Given the description of an element on the screen output the (x, y) to click on. 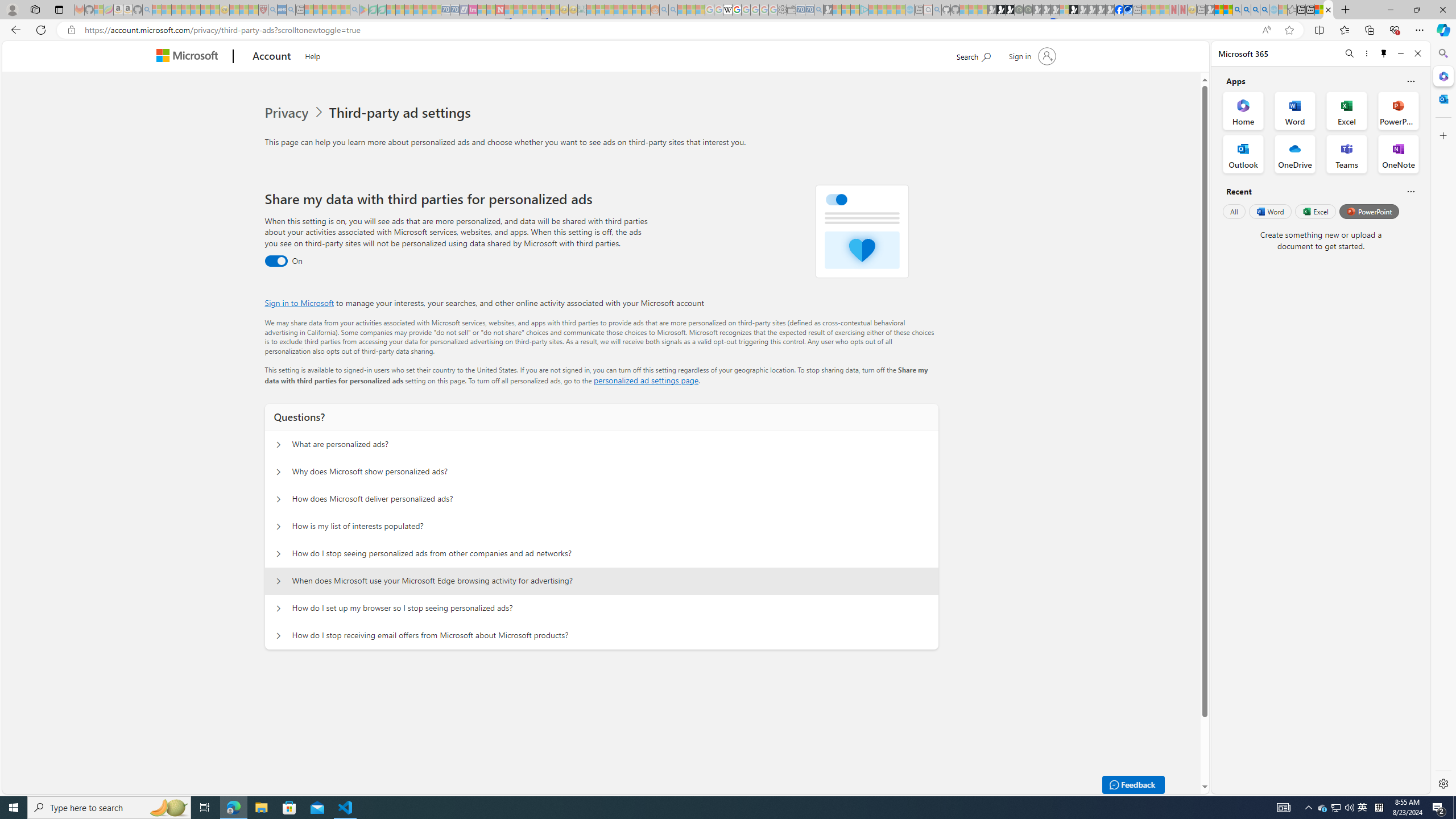
PowerPoint (1369, 210)
Google Chrome Internet Browser Download - Search Images (1264, 9)
